Given the description of an element on the screen output the (x, y) to click on. 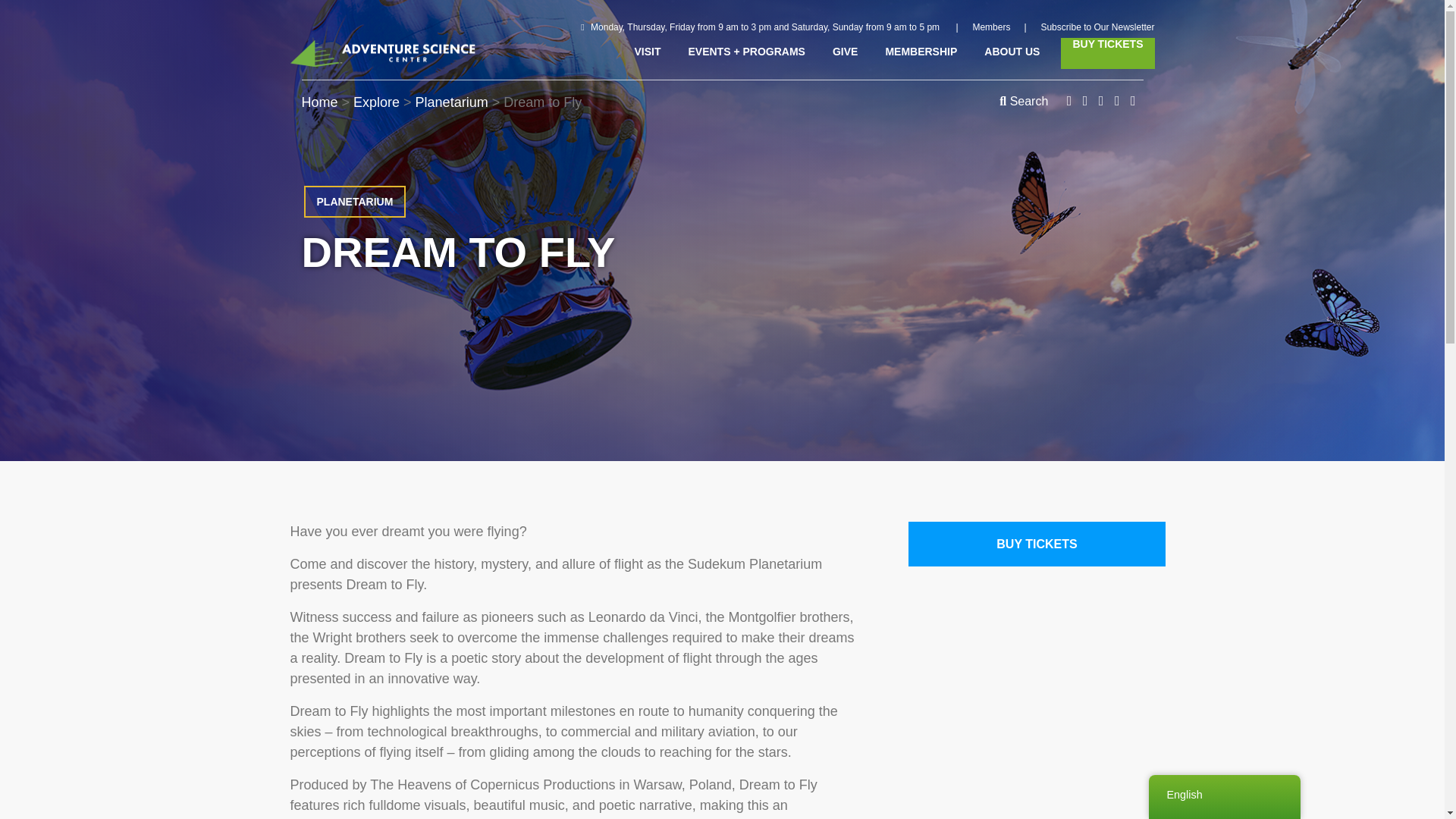
GIVE (845, 51)
Give (845, 51)
Members (991, 27)
Planetarium (450, 102)
VISIT (646, 51)
Explore (378, 102)
VISIT (646, 51)
ABOUT US (1011, 51)
MEMBERSHIP (920, 51)
Subscribe to Our Newsletter (1097, 27)
Home (319, 102)
BUY TICKETS (1107, 52)
